Given the description of an element on the screen output the (x, y) to click on. 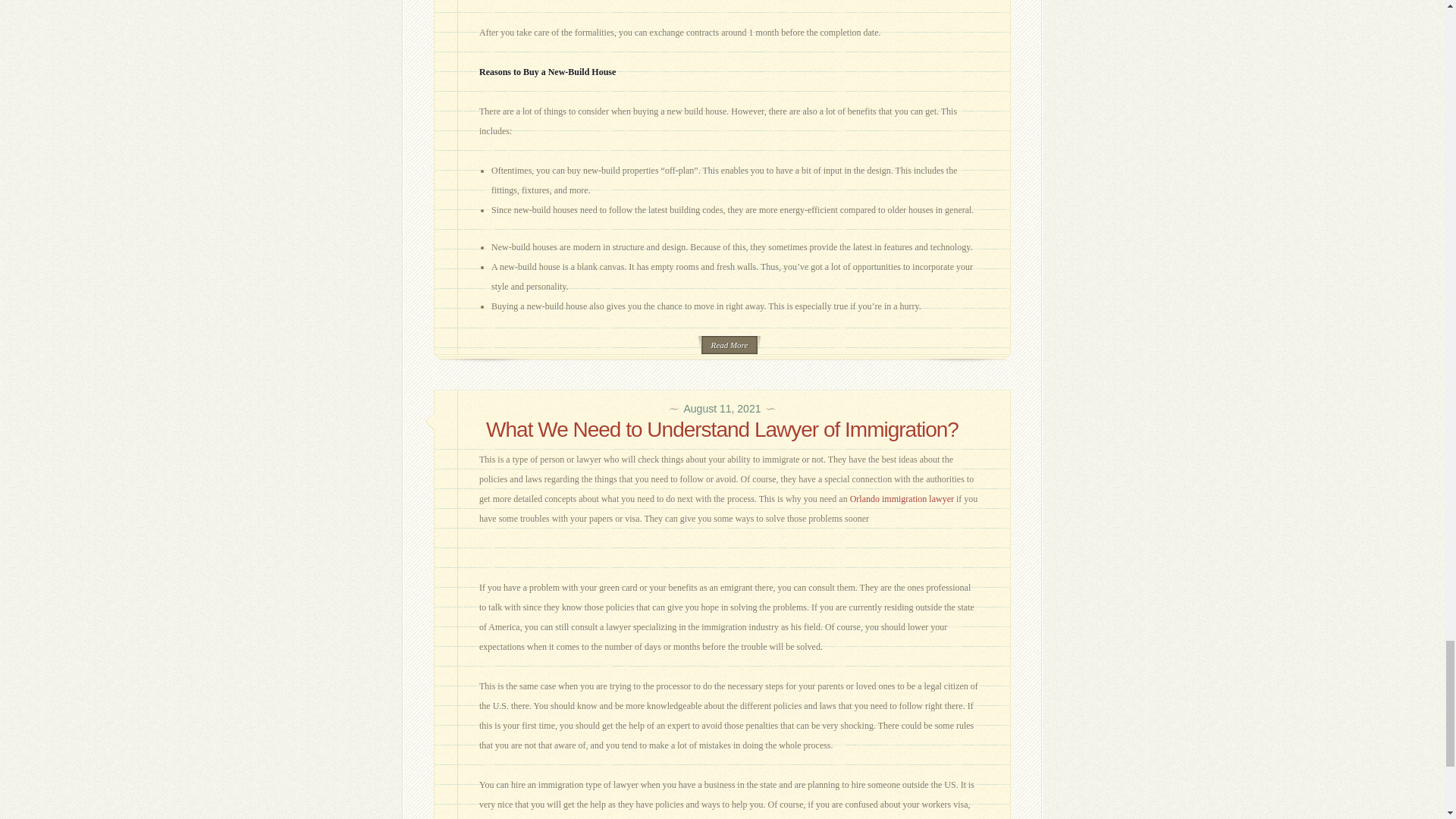
Orlando immigration lawyer (901, 498)
Read More (729, 343)
What We Need to Understand Lawyer of Immigration? (722, 429)
